Given the description of an element on the screen output the (x, y) to click on. 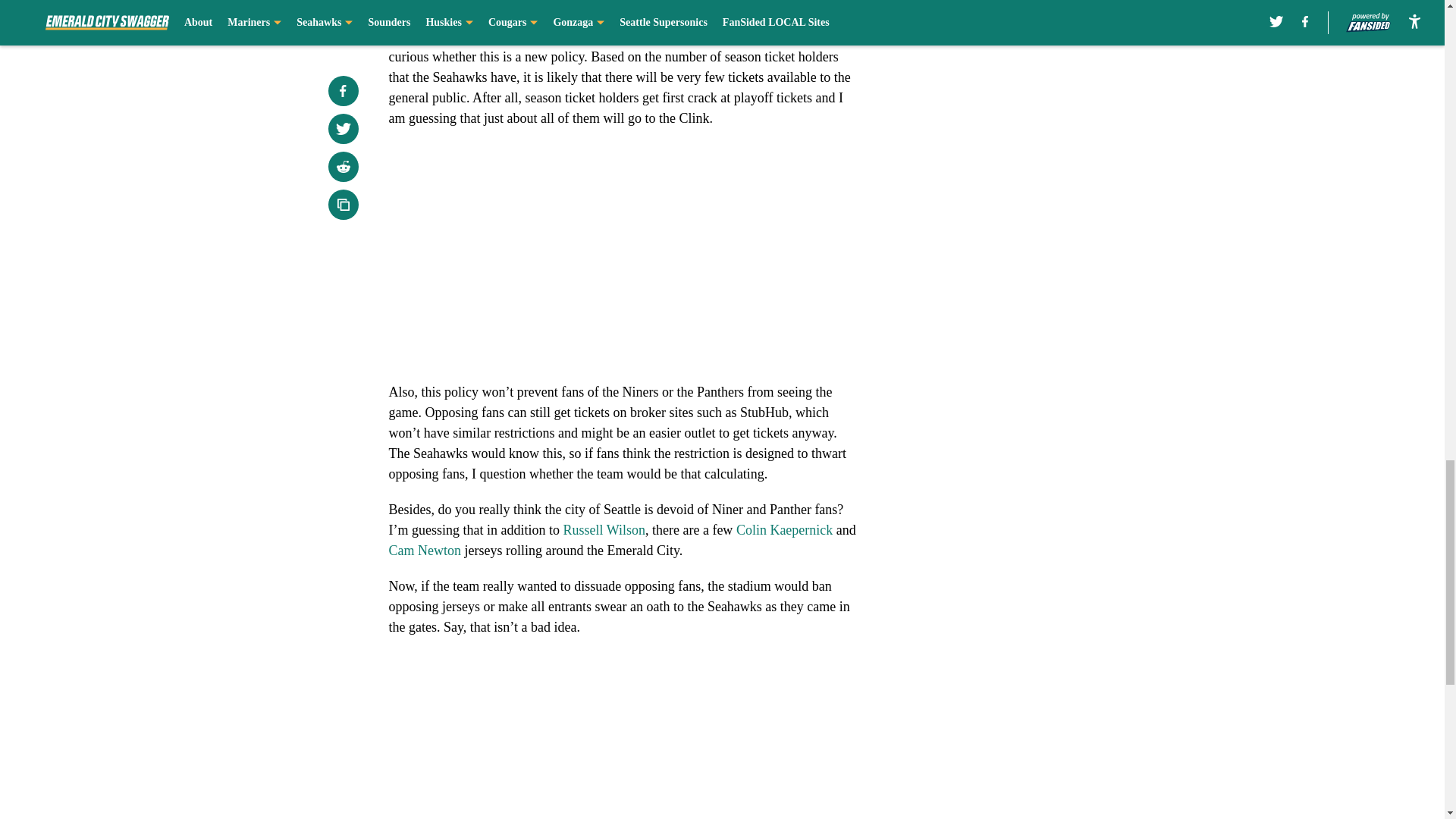
Colin Kaepernick (784, 529)
Cam Newton (424, 549)
Russell Wilson (603, 529)
